Given the description of an element on the screen output the (x, y) to click on. 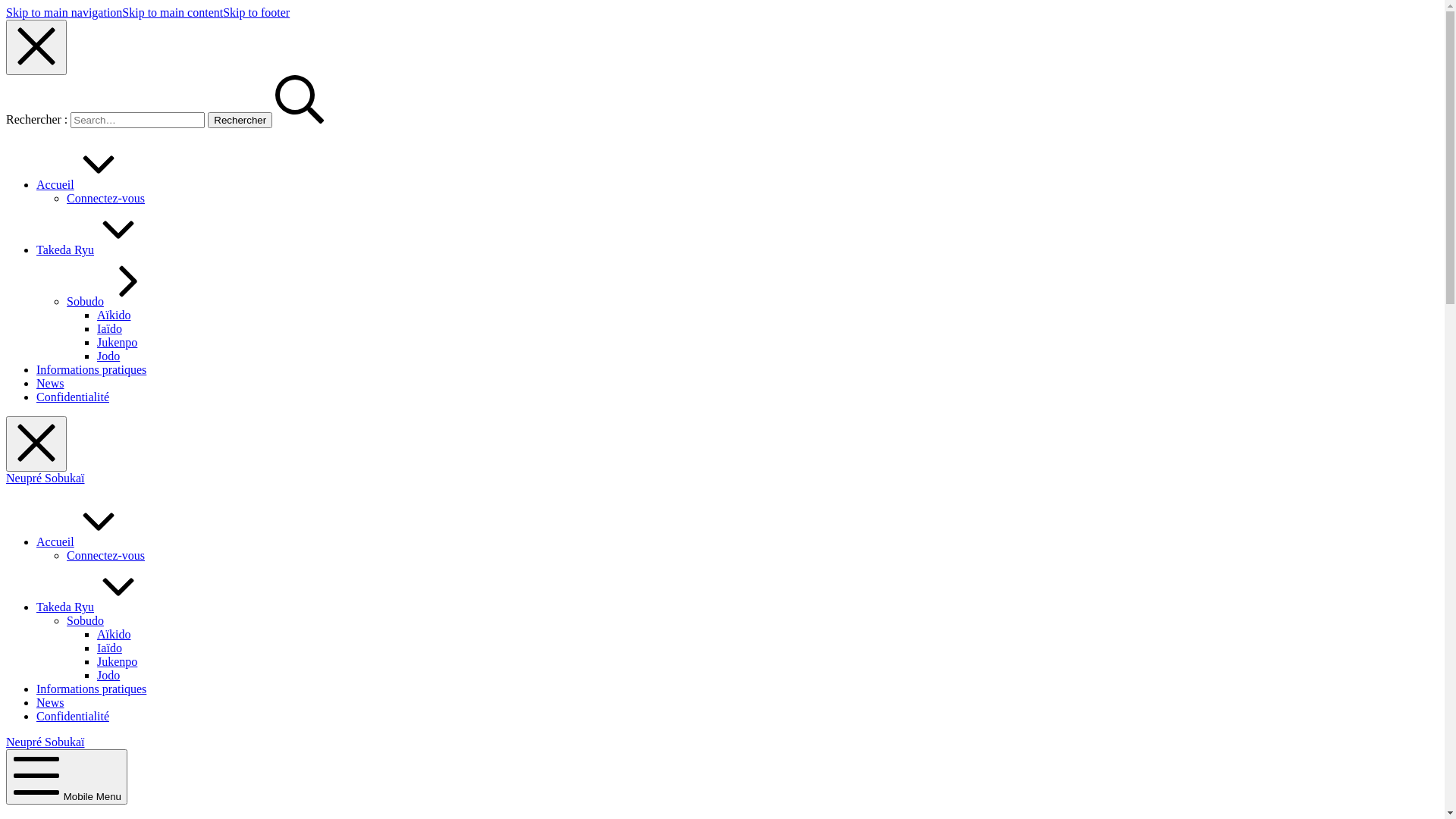
Mobile Menu Element type: text (66, 776)
Jukenpo Element type: text (117, 341)
Takeda Ryu Element type: text (89, 249)
Skip to main navigation Element type: text (64, 12)
close mobile menu Element type: hover (36, 47)
Accueil Element type: text (79, 541)
Jodo Element type: text (108, 355)
Rechercher Element type: text (239, 120)
Sobudo Element type: text (109, 300)
Jukenpo Element type: text (117, 661)
Informations pratiques Element type: text (91, 369)
News Element type: text (49, 382)
Connectez-vous Element type: text (105, 197)
Skip to main content Element type: text (172, 12)
Skip to footer Element type: text (255, 12)
Takeda Ryu Element type: text (89, 606)
Connectez-vous Element type: text (105, 555)
Informations pratiques Element type: text (91, 688)
News Element type: text (49, 702)
Jodo Element type: text (108, 674)
close Element type: hover (36, 443)
Sobudo Element type: text (84, 620)
Accueil Element type: text (79, 184)
